Given the description of an element on the screen output the (x, y) to click on. 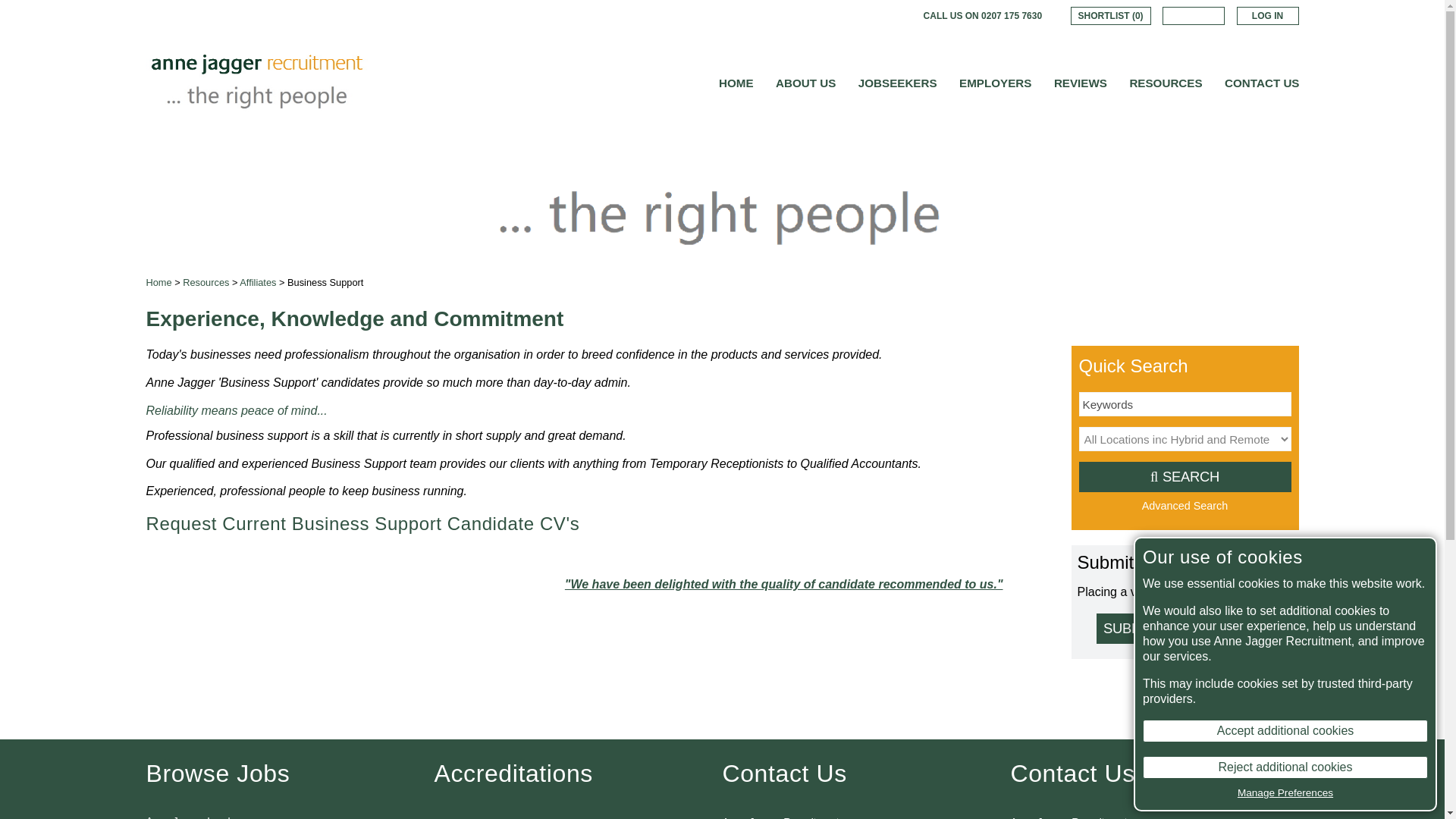
CONTACT US (1261, 83)
HOME (736, 83)
FOLLOW OUR LONDON PAGE ON FACEBOOK (844, 15)
Anne Jagger London (193, 814)
Follow us on LinkedIn (887, 15)
FOLLOW US ON X (866, 15)
Follow us on X (866, 15)
Reject additional cookies (1285, 766)
CALL US ON 0207 175 7630 (982, 15)
Follow our London page on Facebook (844, 15)
